Given the description of an element on the screen output the (x, y) to click on. 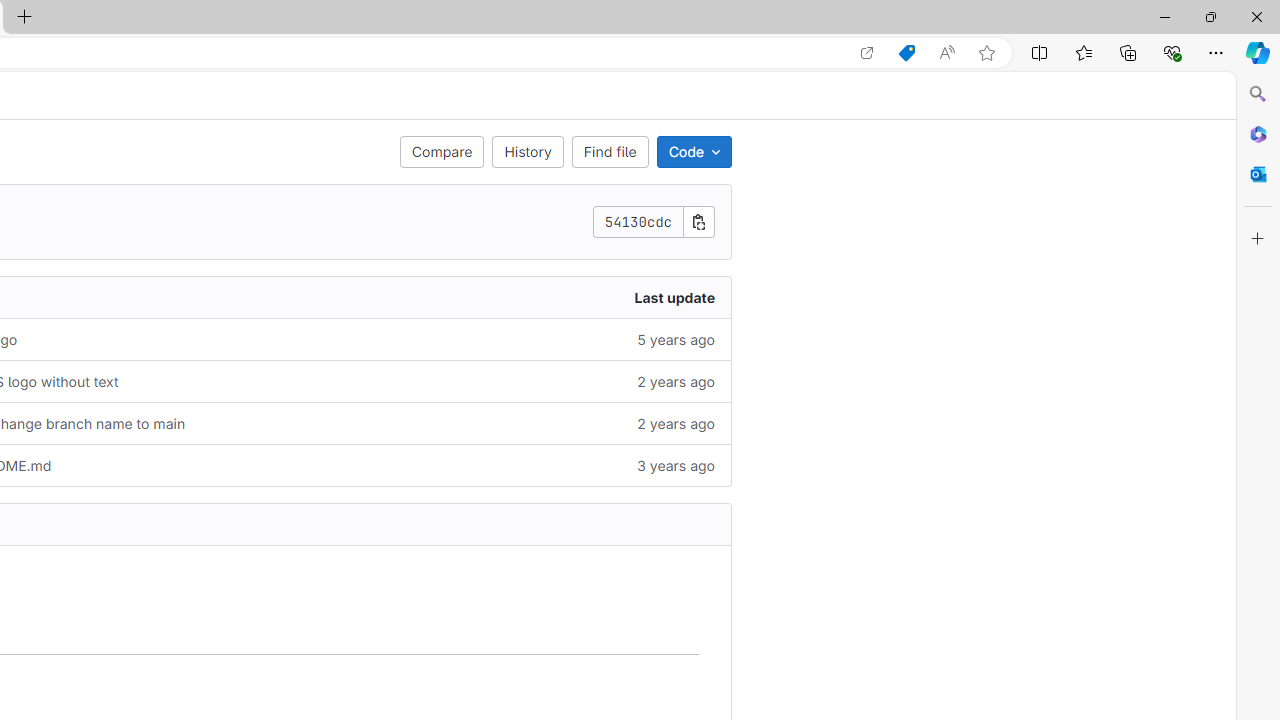
5 years ago (522, 339)
3 years ago (522, 465)
Shopping in Microsoft Edge (906, 53)
Last update (522, 297)
